Given the description of an element on the screen output the (x, y) to click on. 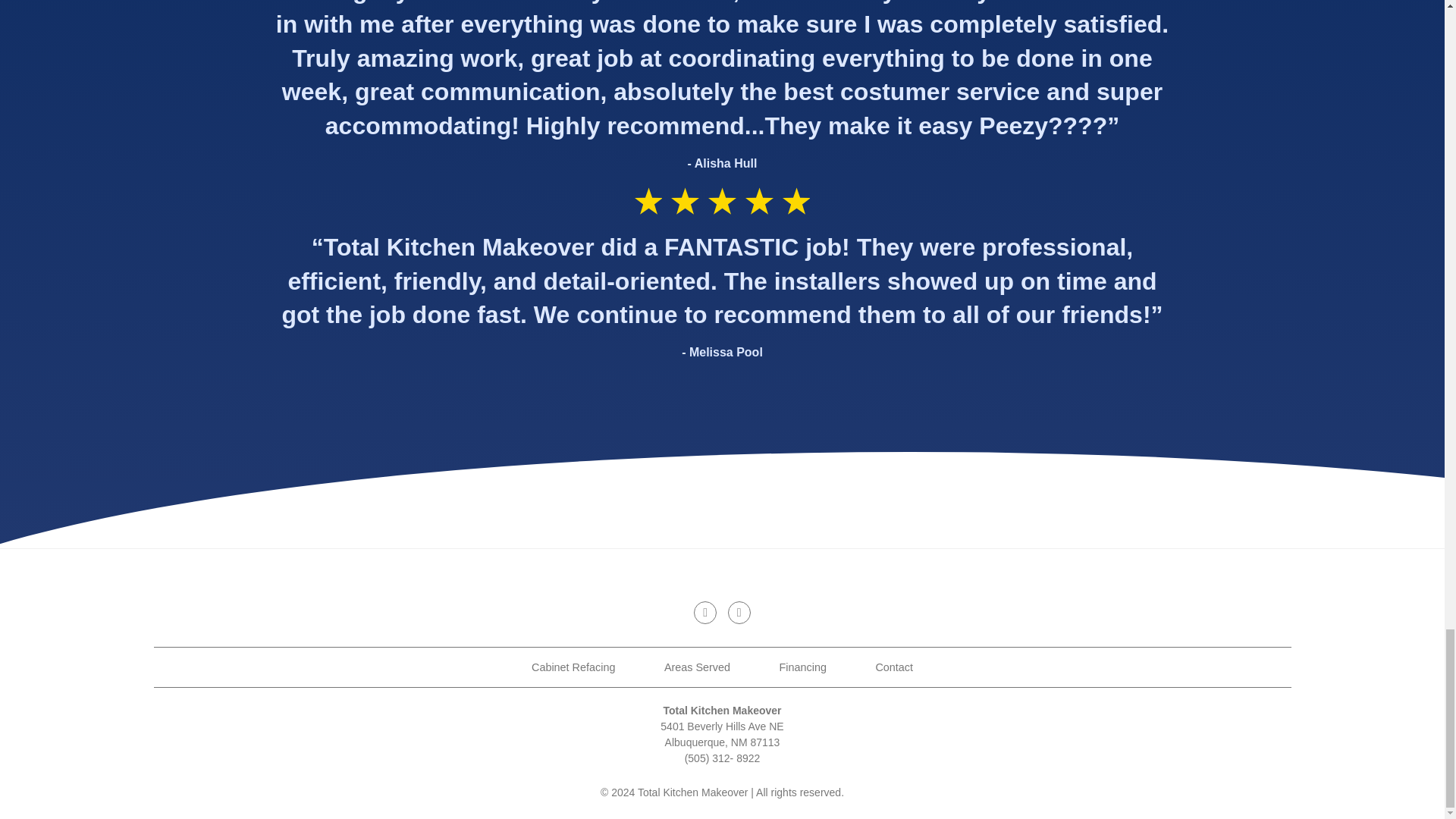
Instagram (705, 612)
Facebook (739, 612)
